Given the description of an element on the screen output the (x, y) to click on. 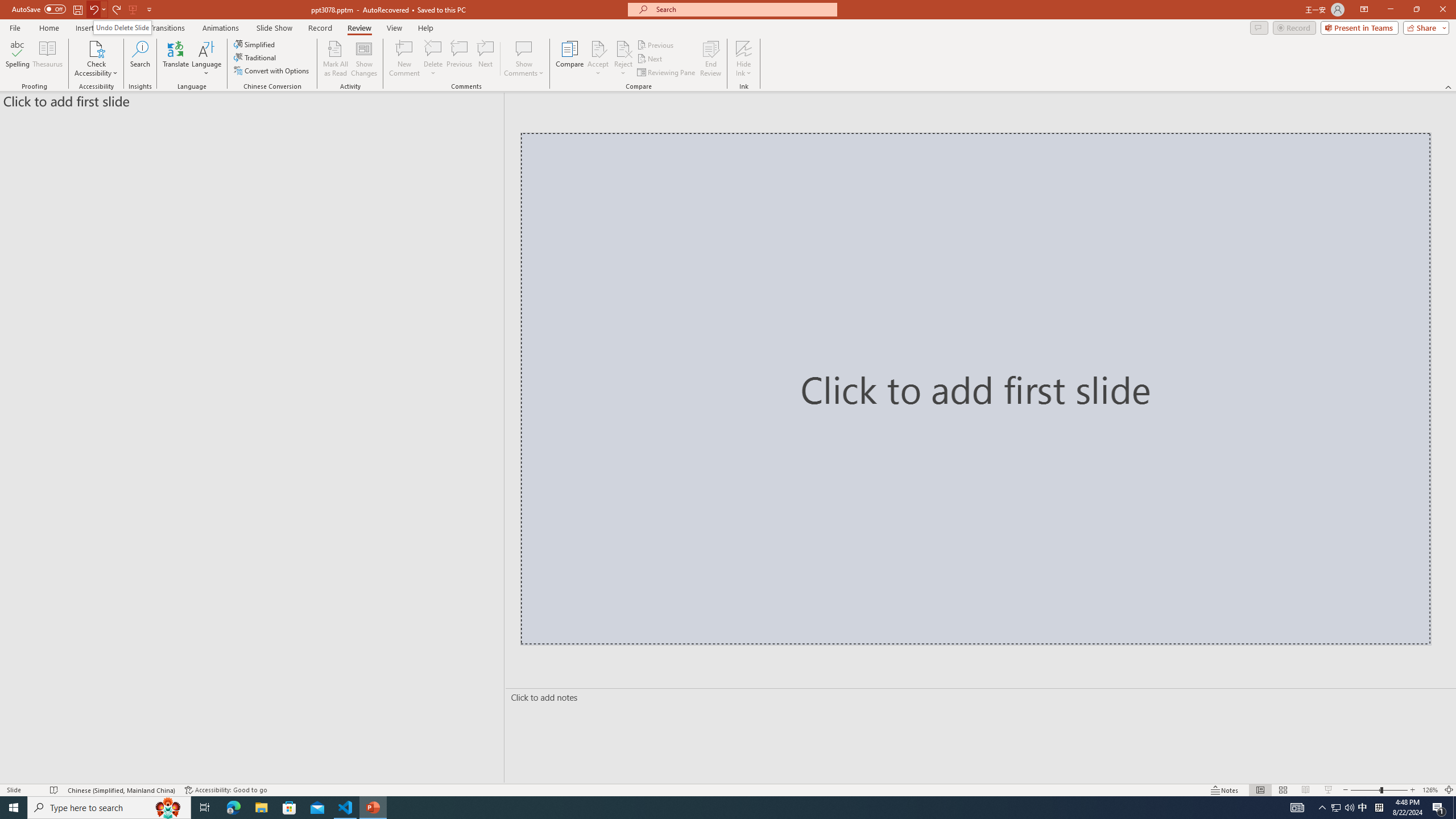
Compare (569, 58)
Accept Change (598, 48)
Thesaurus... (47, 58)
Simplified (254, 44)
Traditional (255, 56)
